Given the description of an element on the screen output the (x, y) to click on. 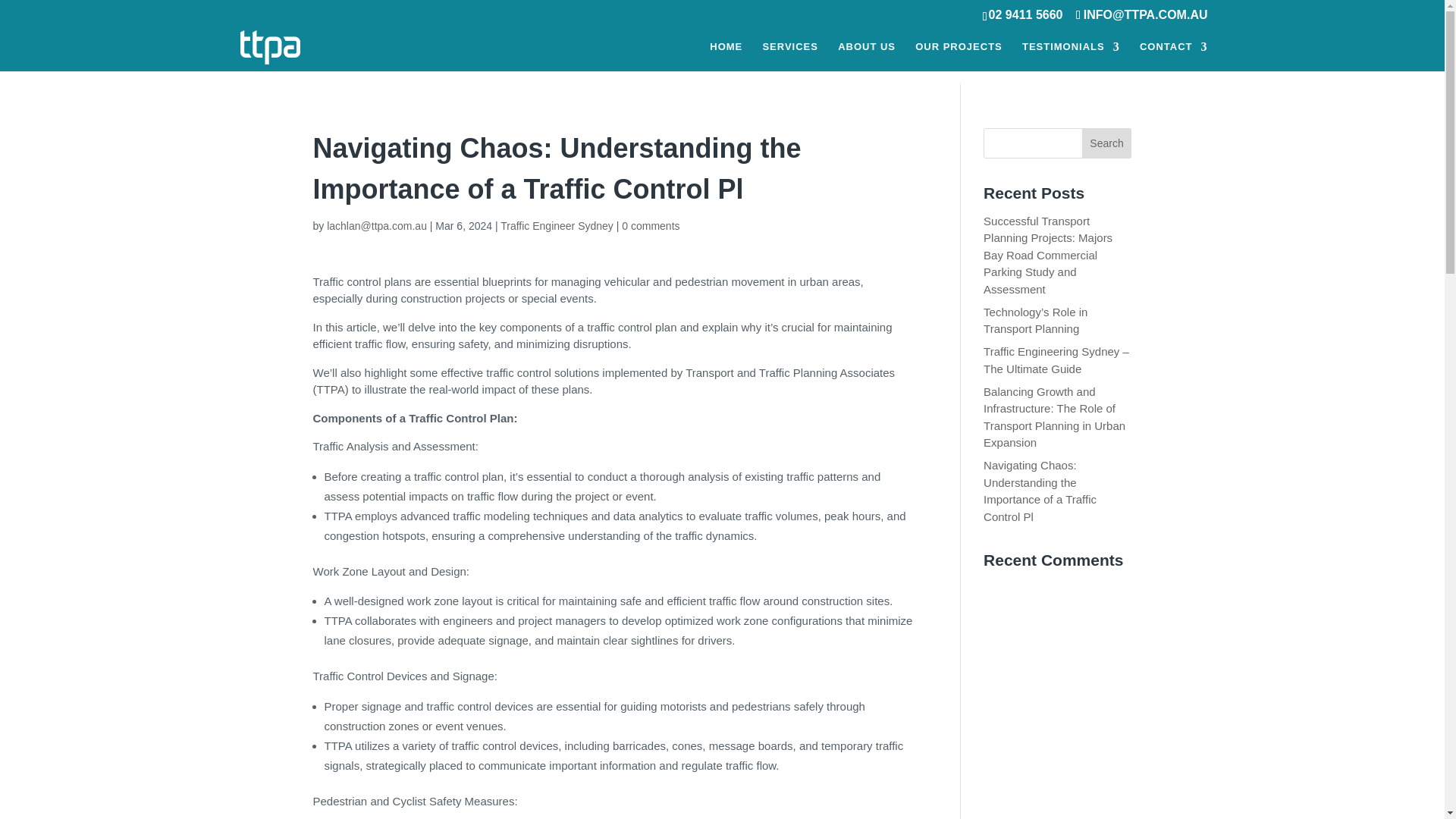
SERVICES (789, 56)
Search (1106, 142)
02 9411 5660 (1025, 14)
TESTIMONIALS (1070, 56)
HOME (726, 56)
ABOUT US (866, 56)
CONTACT (1174, 56)
